Given the description of an element on the screen output the (x, y) to click on. 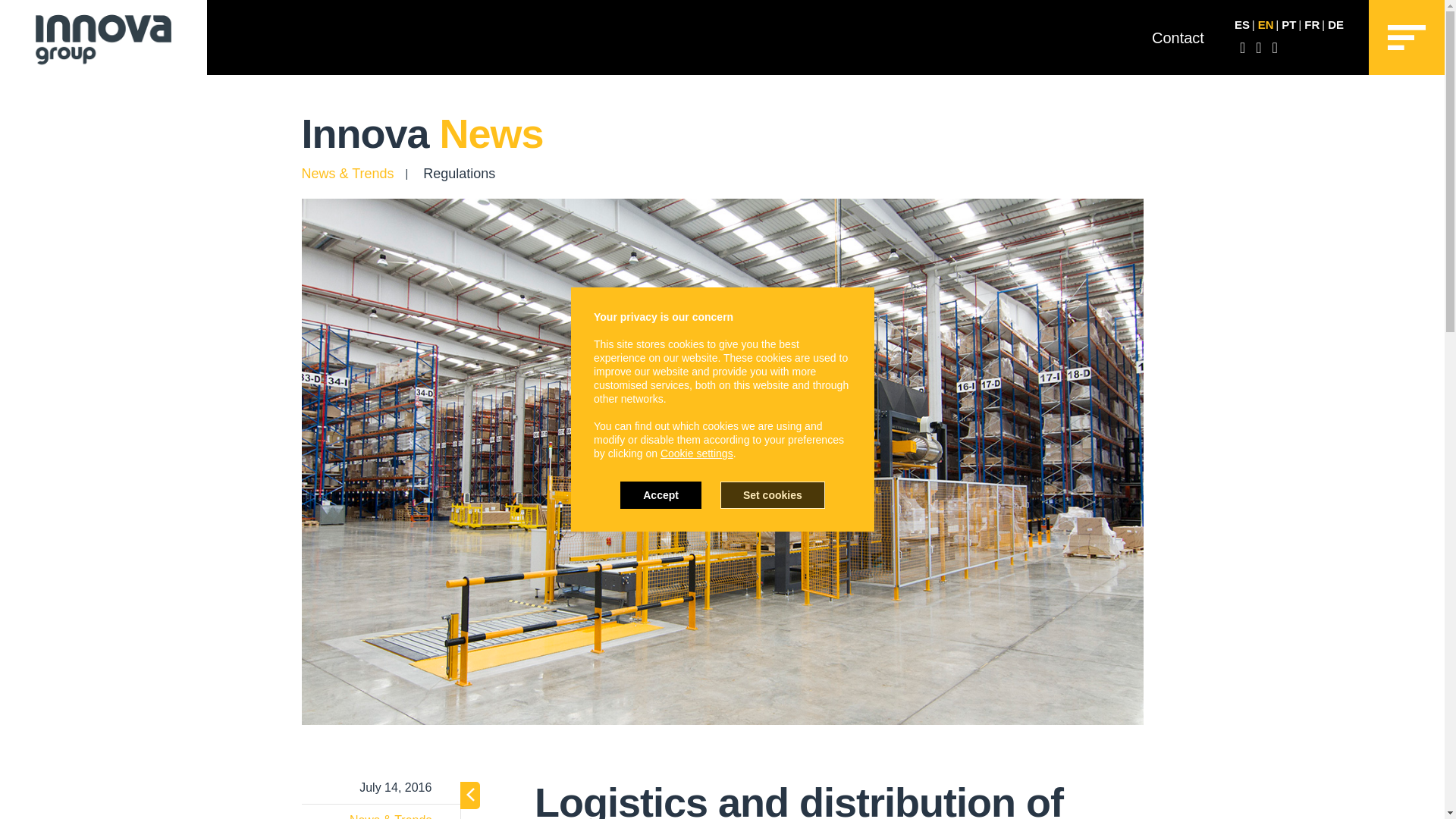
EN (1265, 24)
ES (1241, 24)
Contact (1177, 37)
DE (1335, 24)
FR (1311, 24)
PT (1288, 24)
